Given the description of an element on the screen output the (x, y) to click on. 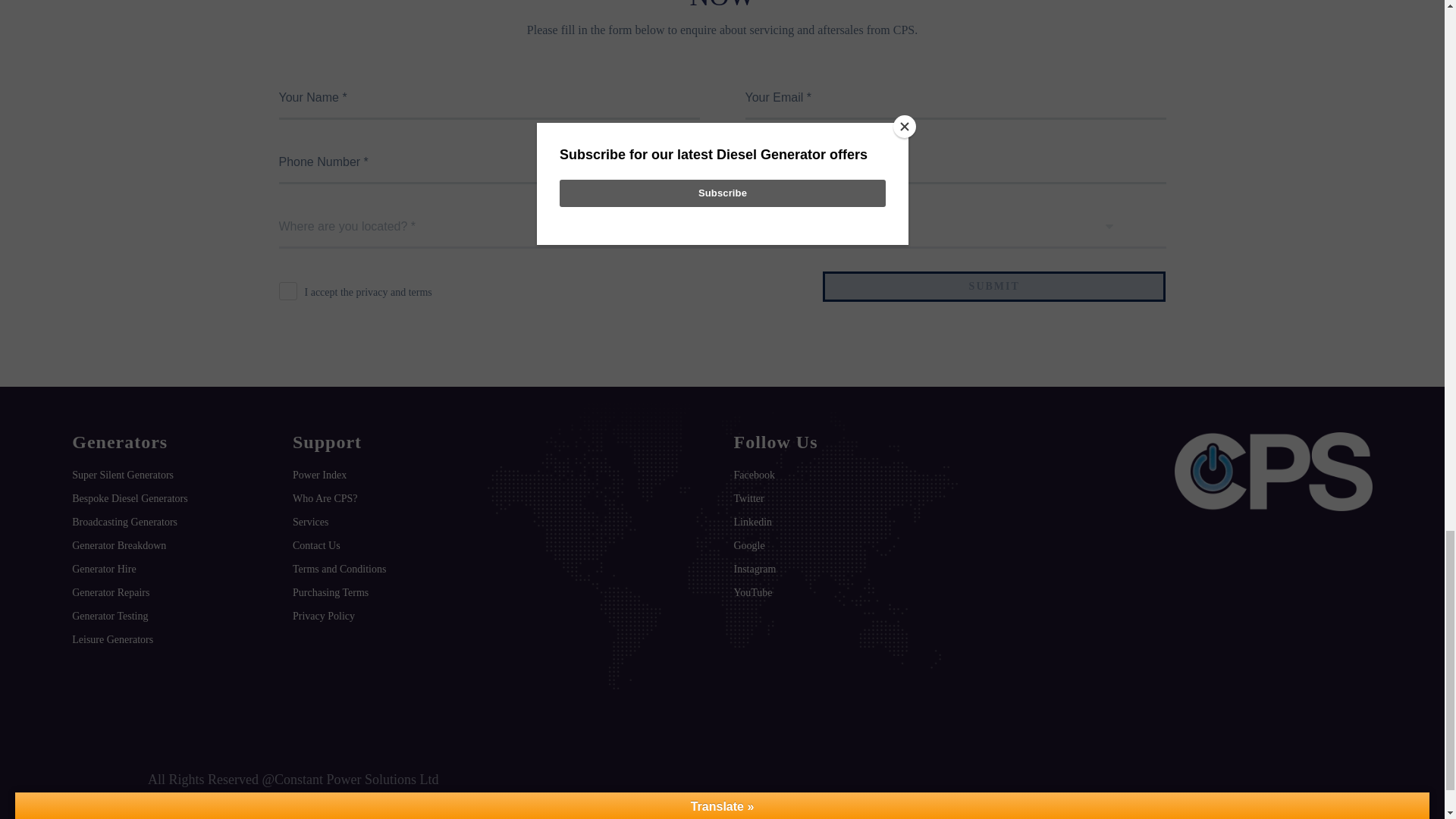
1 (288, 290)
Submit (994, 286)
